Given the description of an element on the screen output the (x, y) to click on. 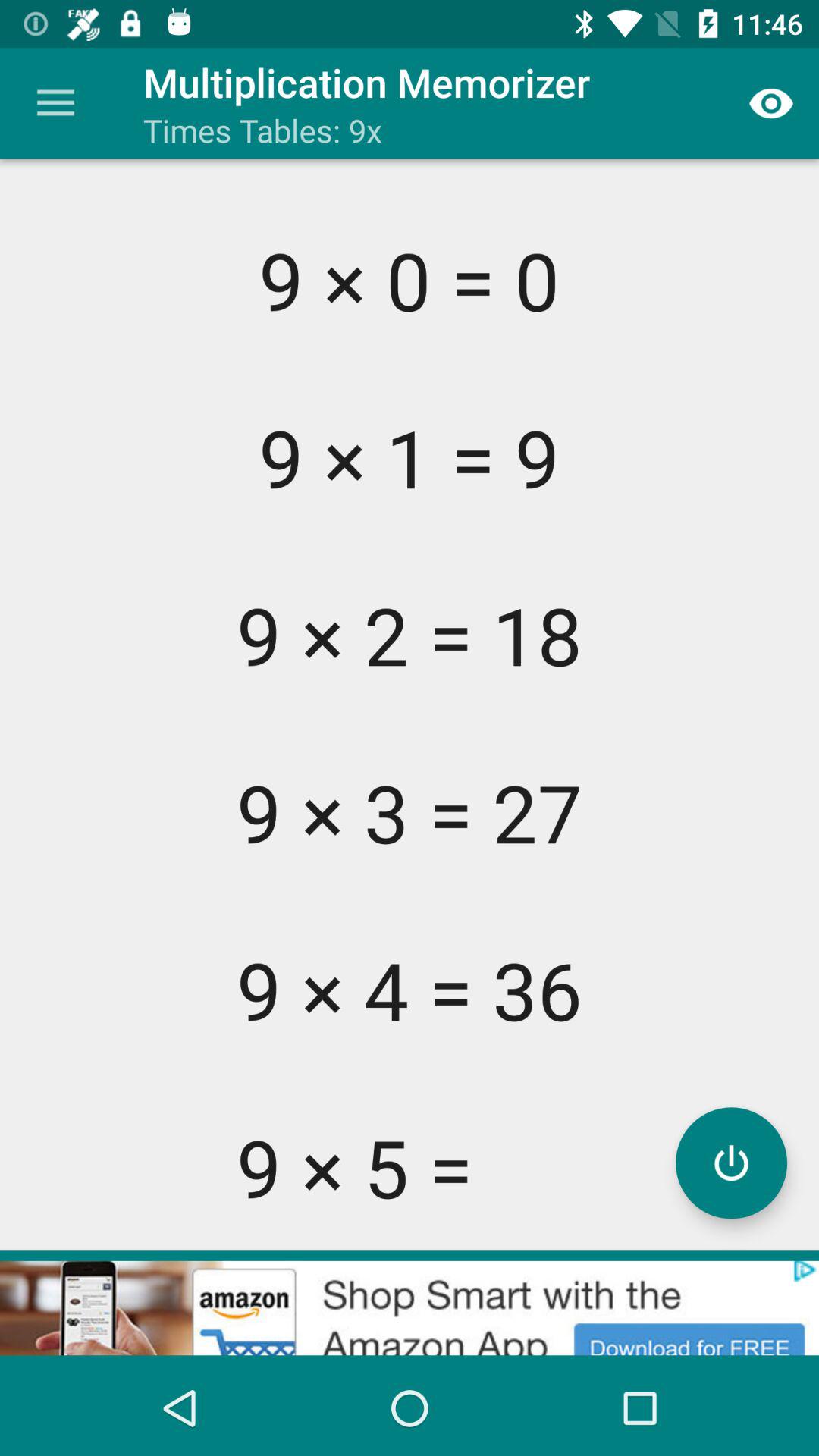
activate calculator (731, 1162)
